Given the description of an element on the screen output the (x, y) to click on. 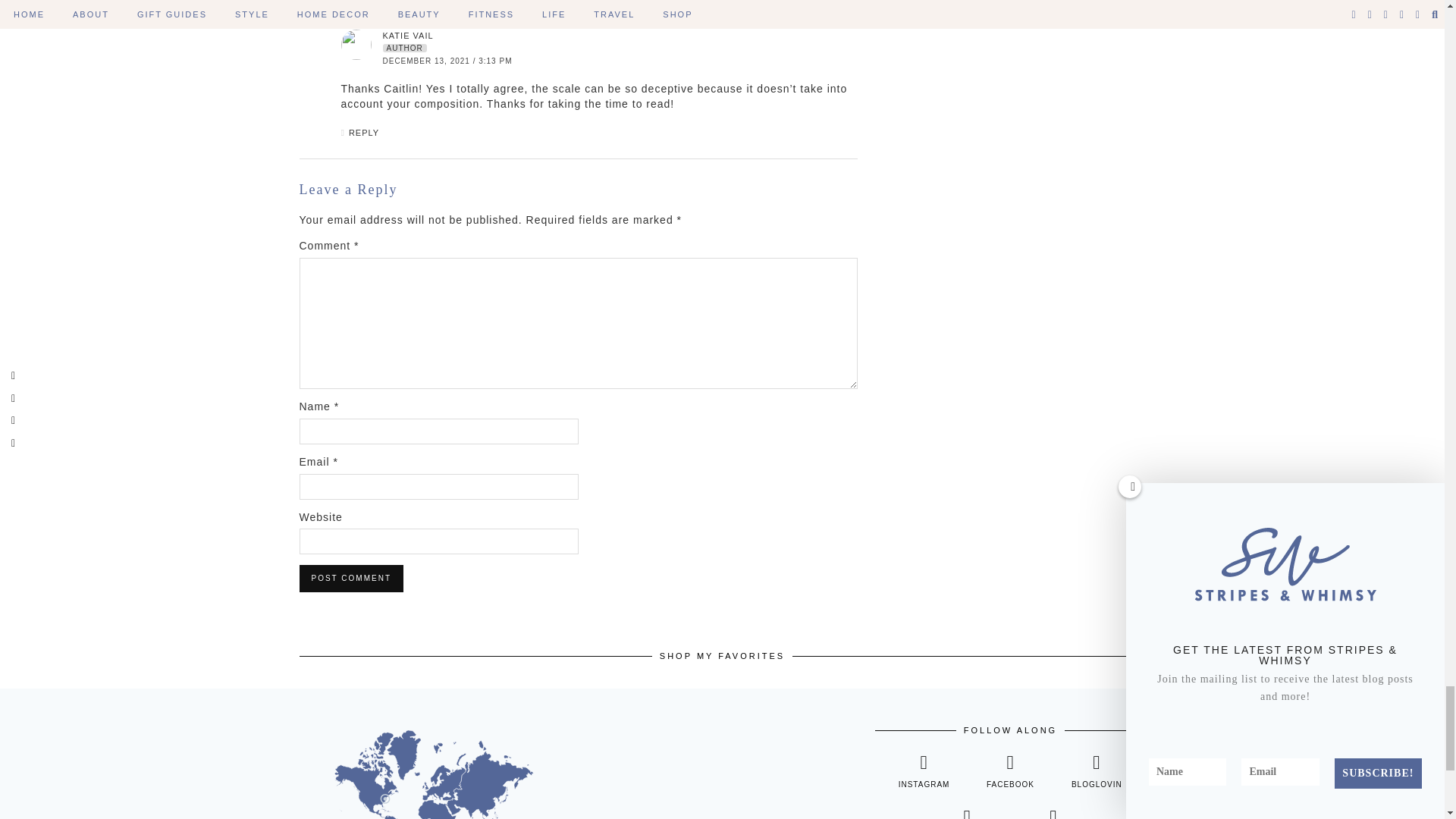
Post Comment (350, 578)
